Given the description of an element on the screen output the (x, y) to click on. 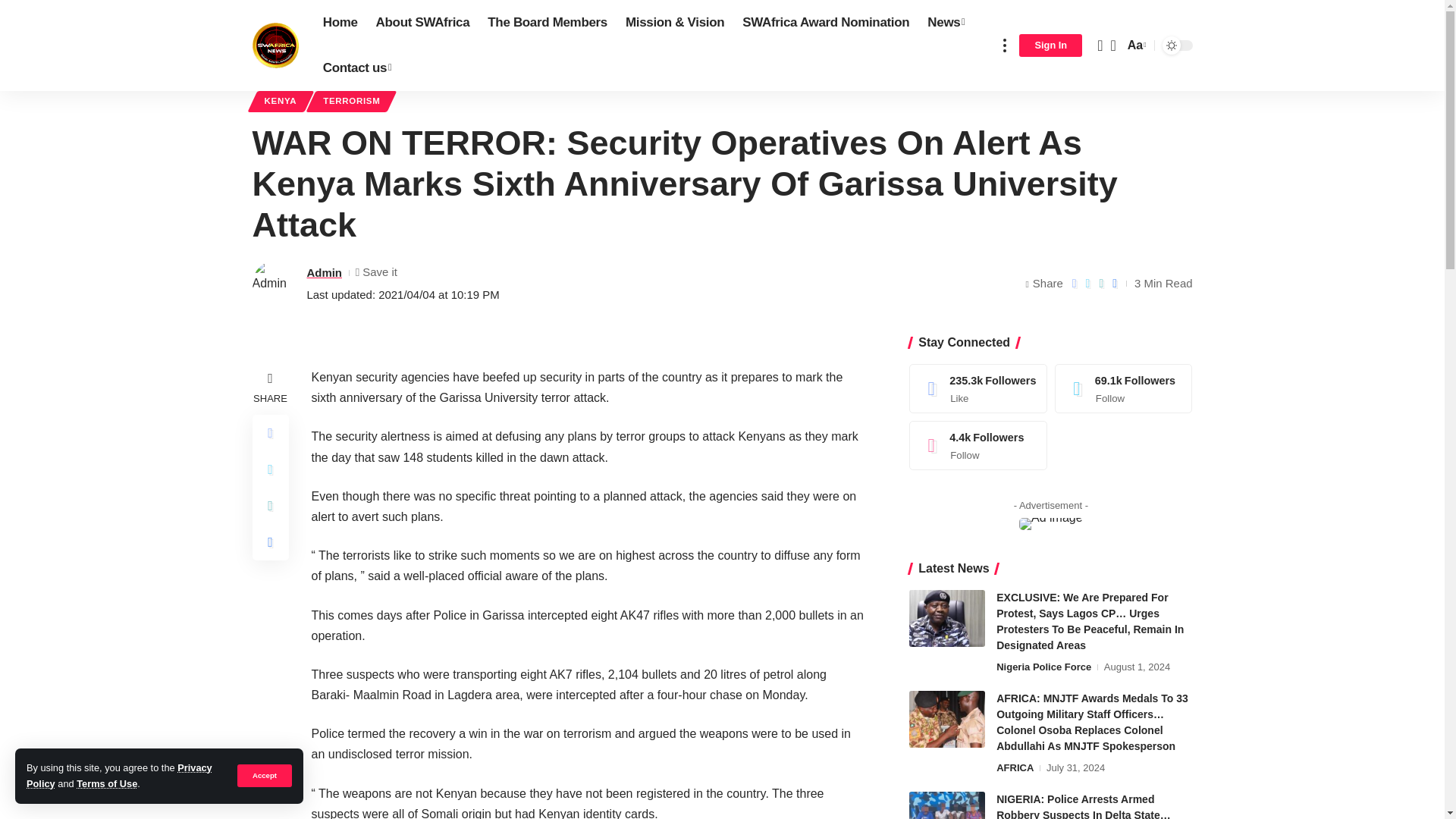
Facebook (978, 388)
Go to Security Watch Africa. (301, 67)
Security Watch Africa (274, 44)
News (946, 22)
Dribbble (978, 445)
Go to Blog. (376, 67)
Sign In (1050, 45)
Accept (264, 775)
Contact us (357, 67)
Home (340, 22)
SWAfrica Award Nomination (825, 22)
Go to the Kenya Category archives. (411, 67)
Privacy Policy (119, 775)
About SWAfrica (422, 22)
The Board Members (547, 22)
